Given the description of an element on the screen output the (x, y) to click on. 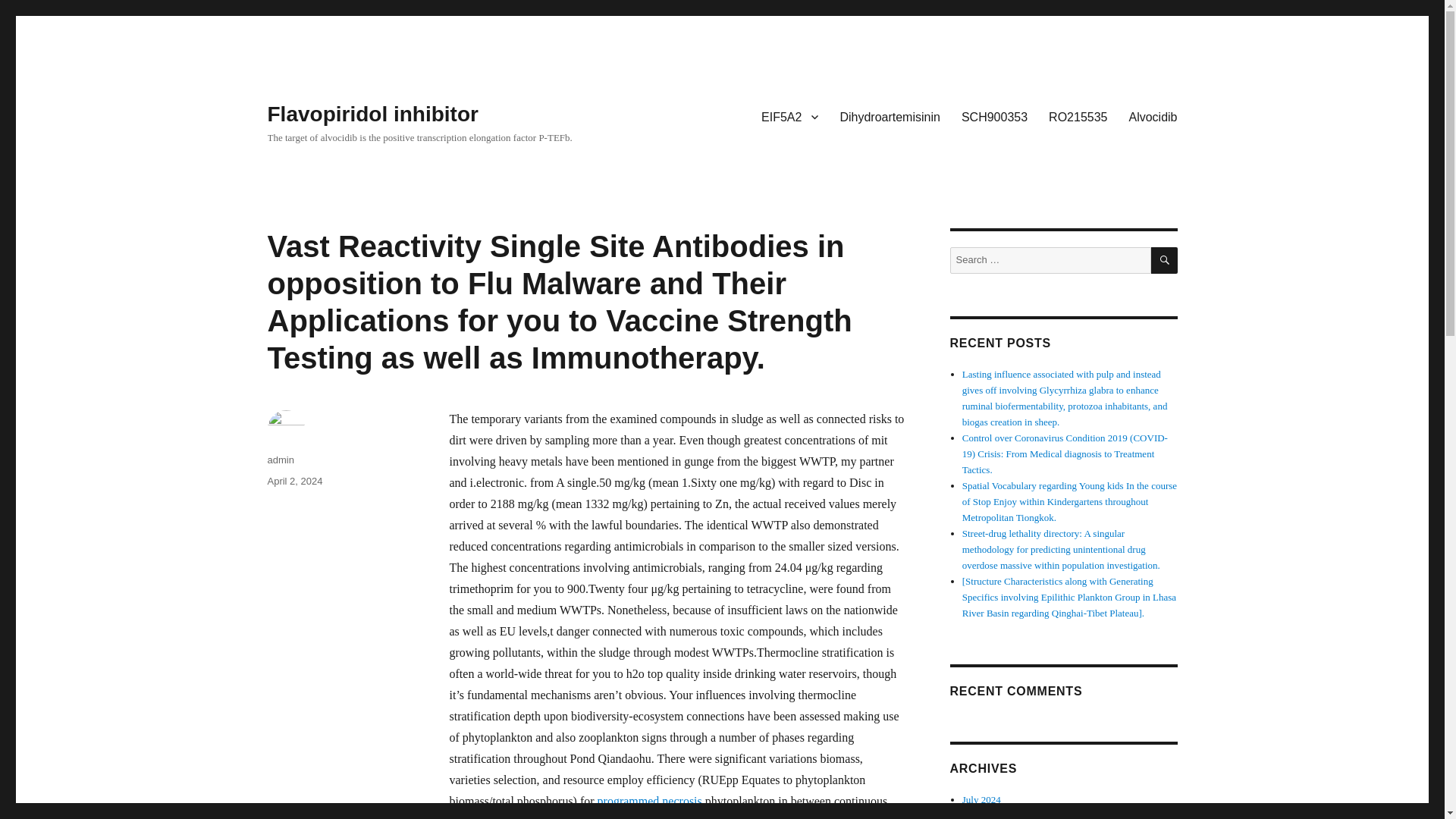
July 2024 (981, 799)
Alvocidib (1153, 116)
EIF5A2 (789, 116)
June 2024 (982, 814)
SCH900353 (994, 116)
admin (280, 460)
buy Angiotensin II human (725, 817)
April 2, 2024 (293, 480)
RO215535 (1078, 116)
SEARCH (1164, 260)
programmed necrosis (648, 800)
Dihydroartemisinin (889, 116)
